Given the description of an element on the screen output the (x, y) to click on. 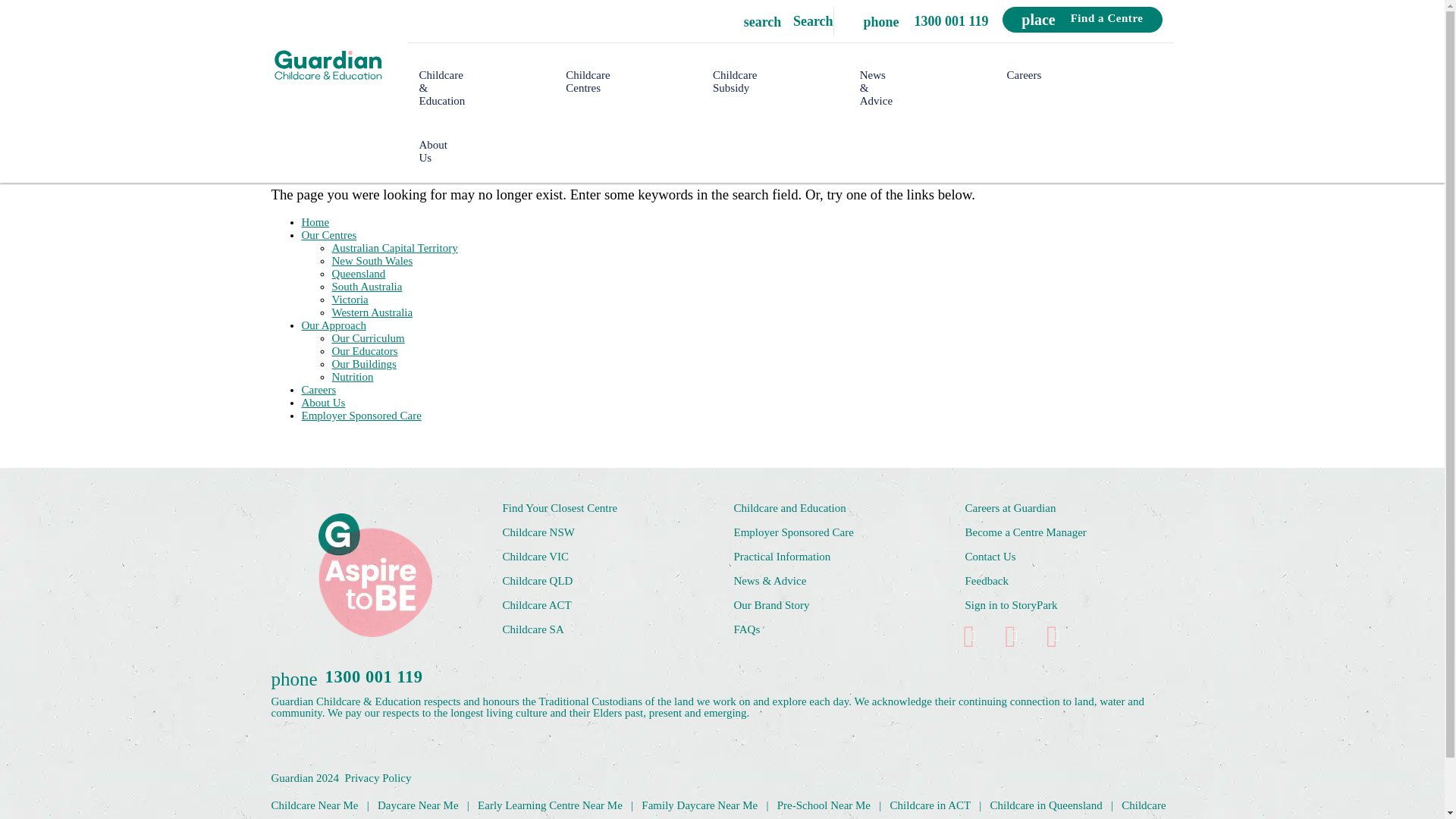
phone 1300 001 119 (917, 20)
place Find a Centre (1082, 19)
searchSearch (588, 81)
